Given the description of an element on the screen output the (x, y) to click on. 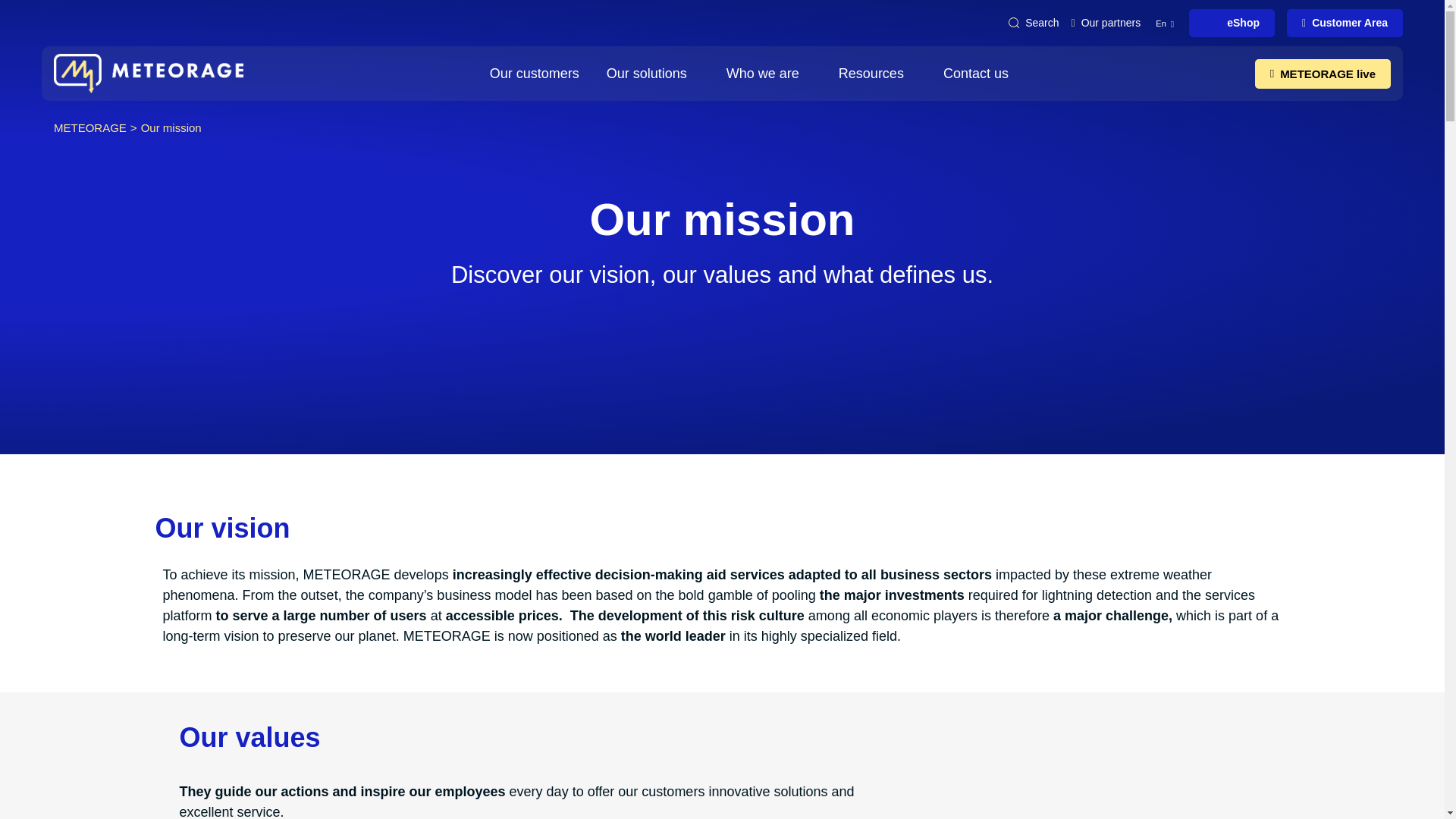
Our partners (1106, 23)
Customer Area (1345, 22)
En (1164, 23)
Our customers (534, 72)
En (1164, 23)
Our solutions (652, 72)
eShop (1232, 22)
